Given the description of an element on the screen output the (x, y) to click on. 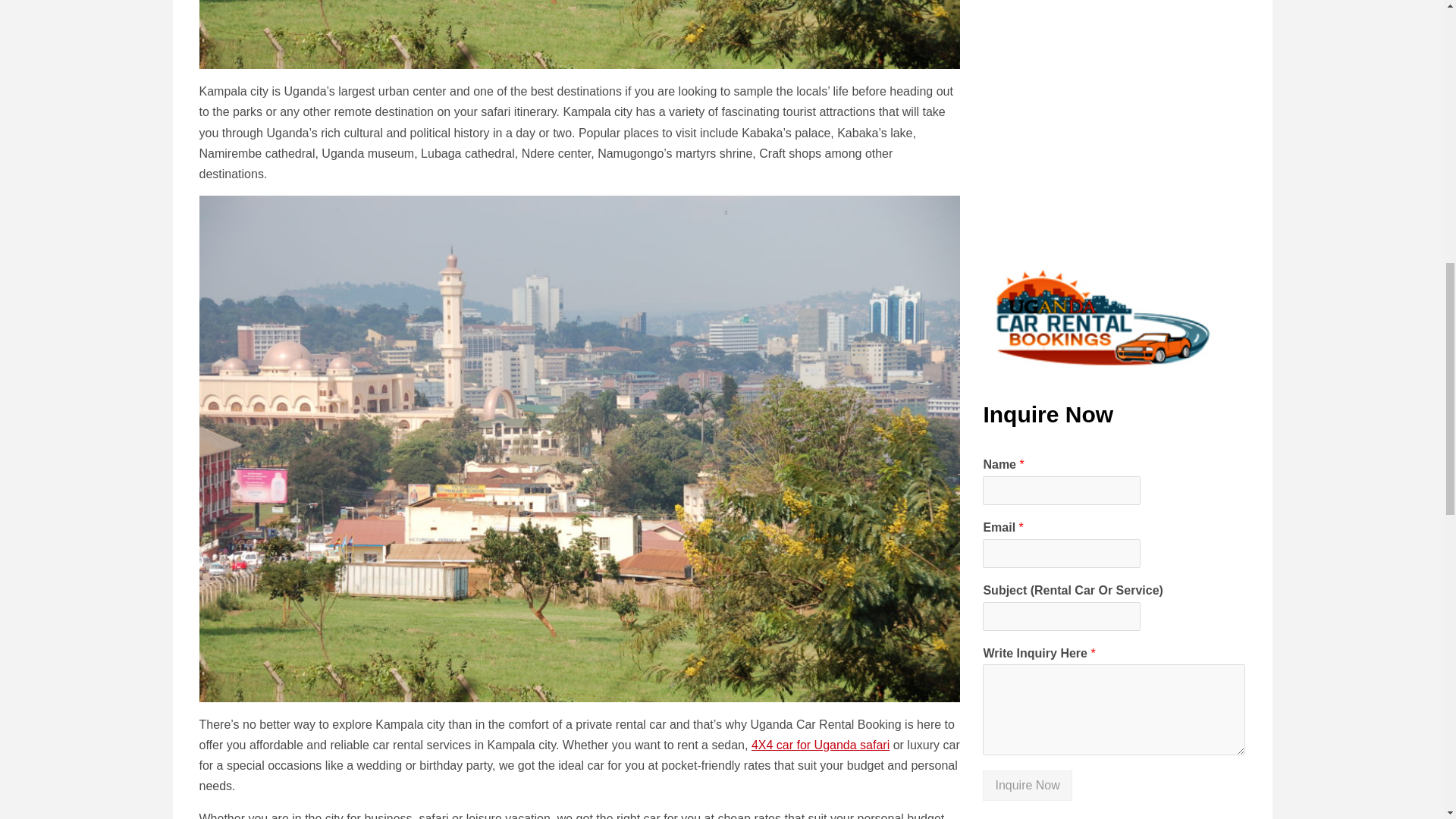
4X4 car for Uganda safari (820, 744)
